Given the description of an element on the screen output the (x, y) to click on. 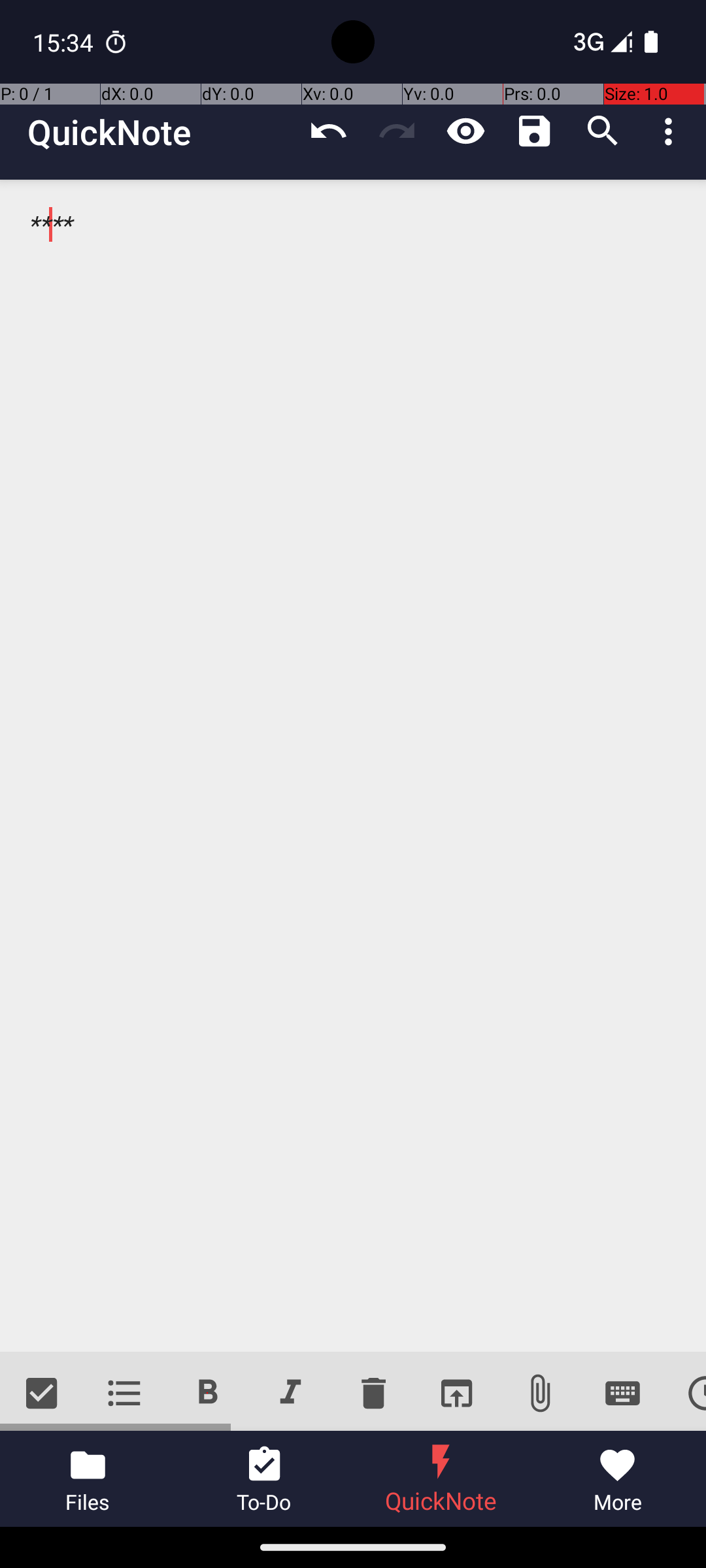
**** Element type: android.widget.EditText (353, 765)
